Given the description of an element on the screen output the (x, y) to click on. 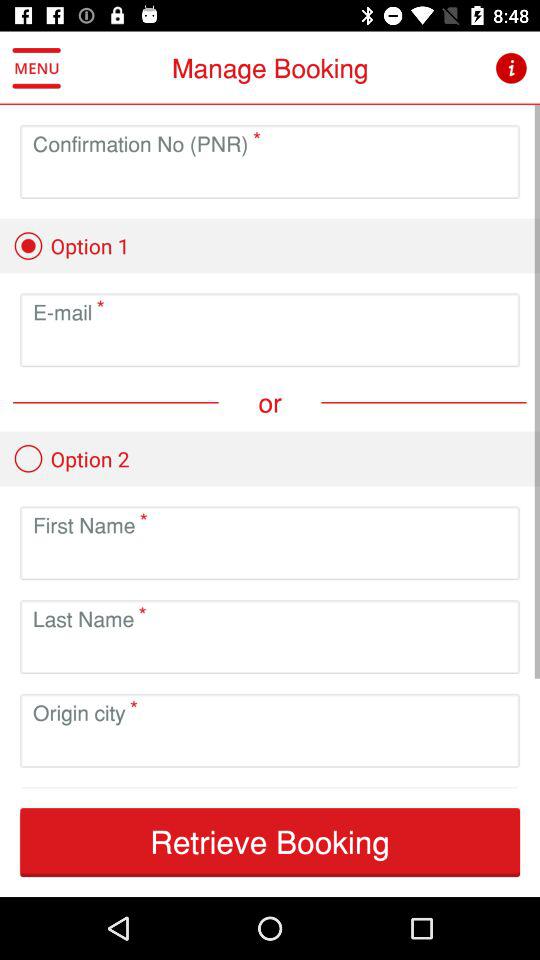
origin city text box (270, 746)
